Given the description of an element on the screen output the (x, y) to click on. 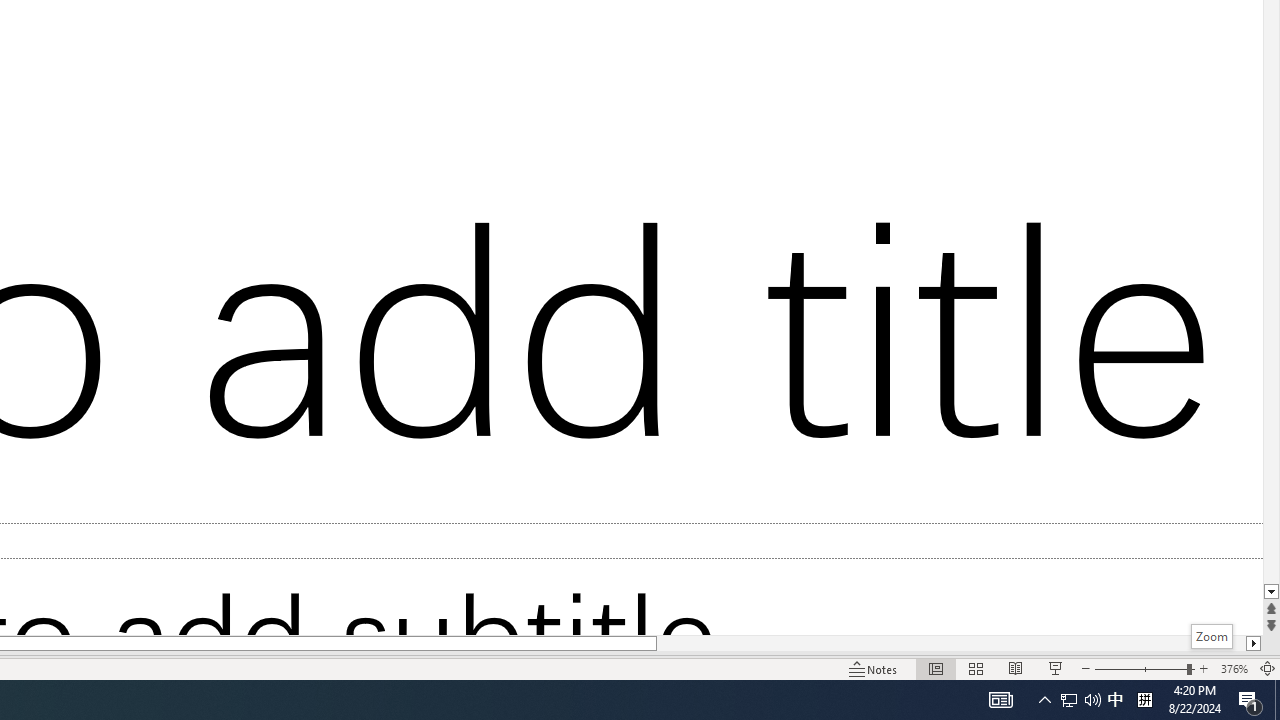
Notes  (874, 668)
Zoom 376% (1234, 668)
